Given the description of an element on the screen output the (x, y) to click on. 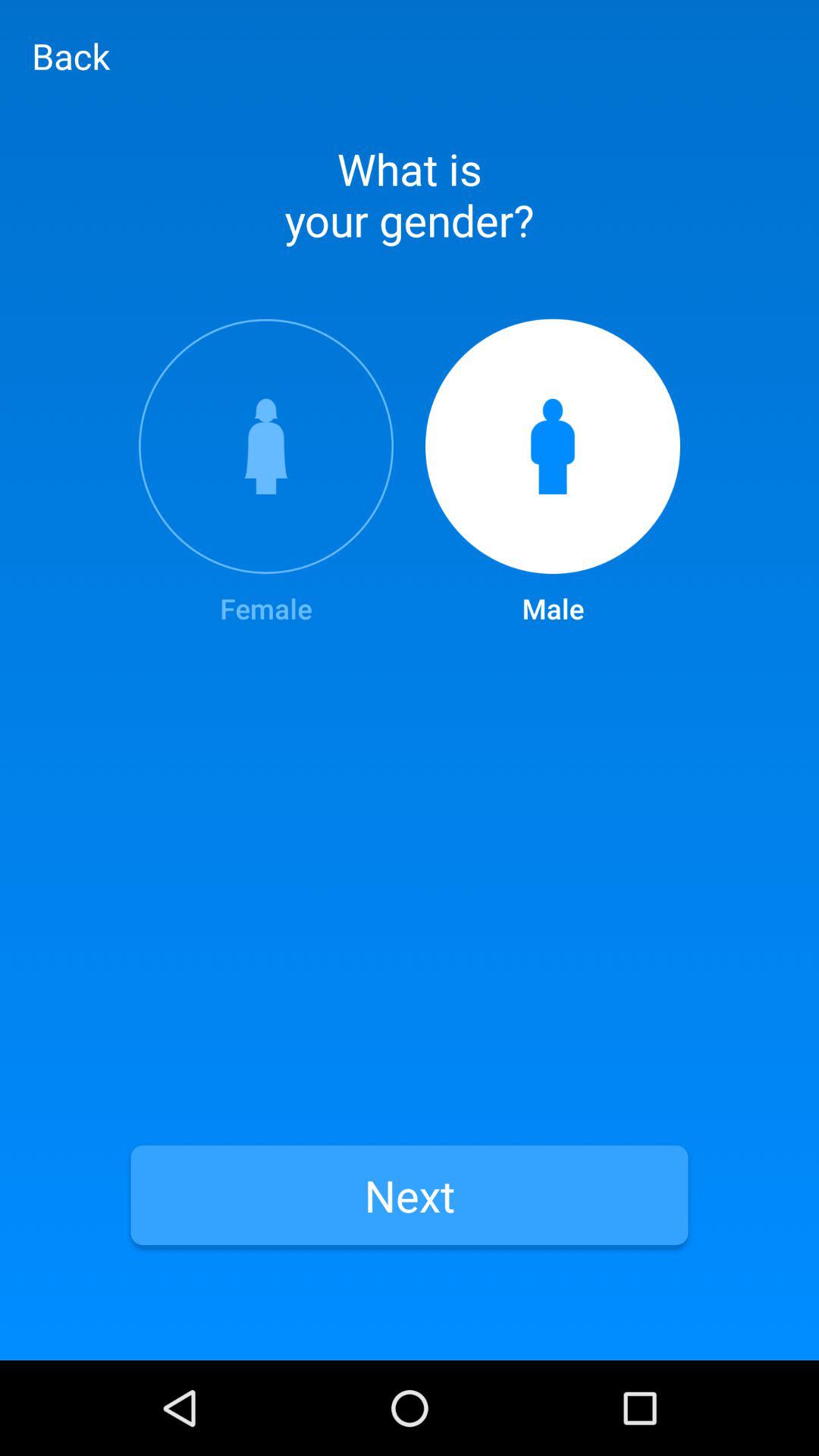
choose the male item (552, 473)
